Given the description of an element on the screen output the (x, y) to click on. 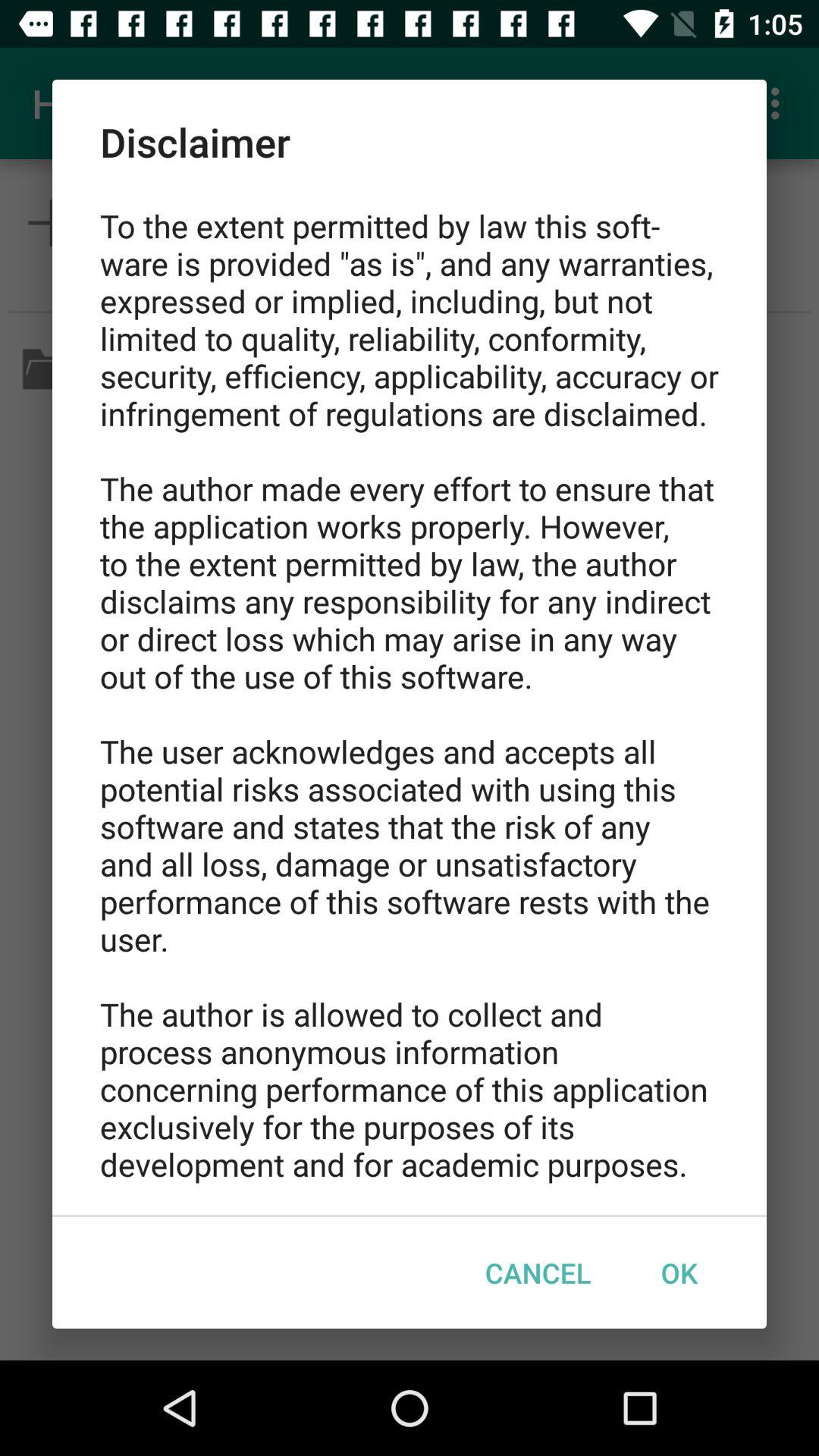
scroll until the cancel item (538, 1272)
